Given the description of an element on the screen output the (x, y) to click on. 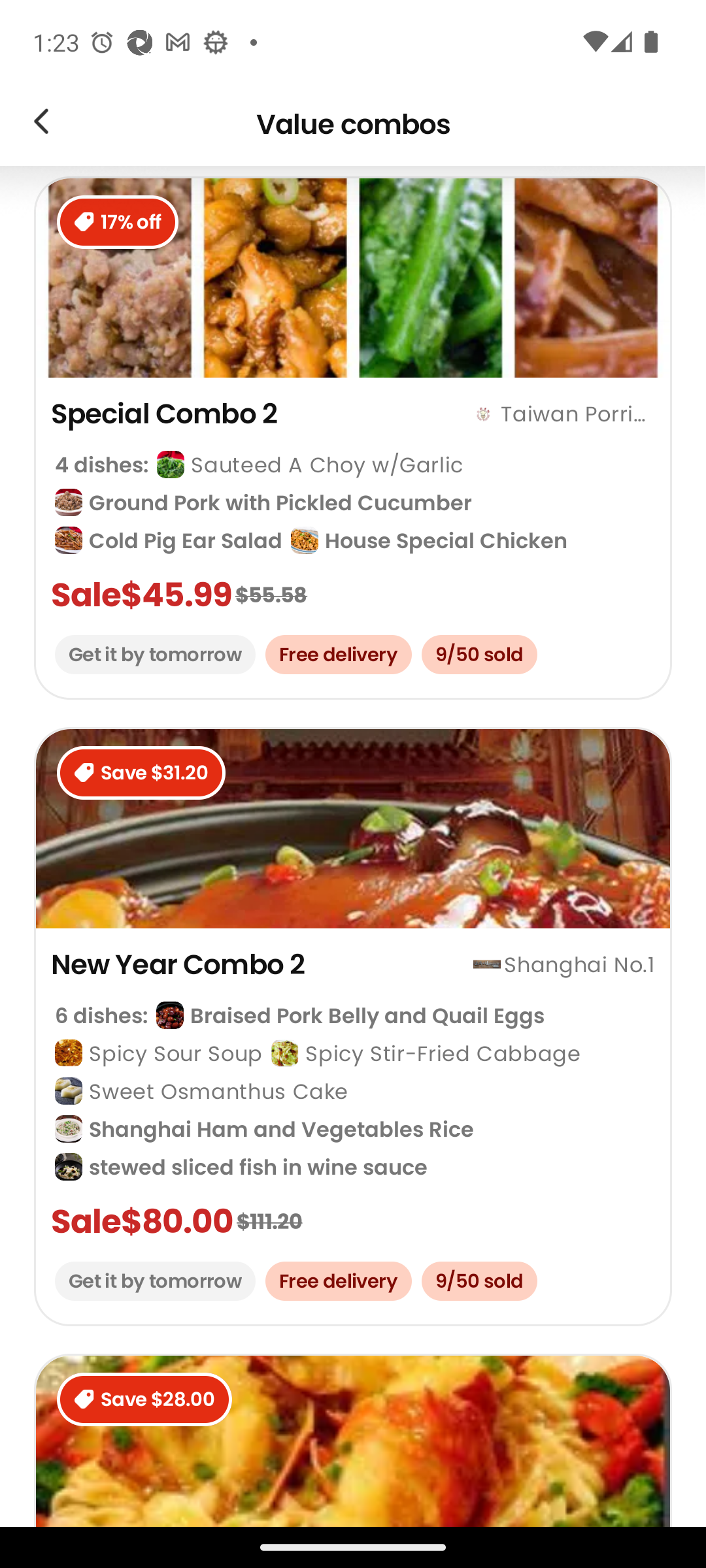
Image (41, 124)
